Given the description of an element on the screen output the (x, y) to click on. 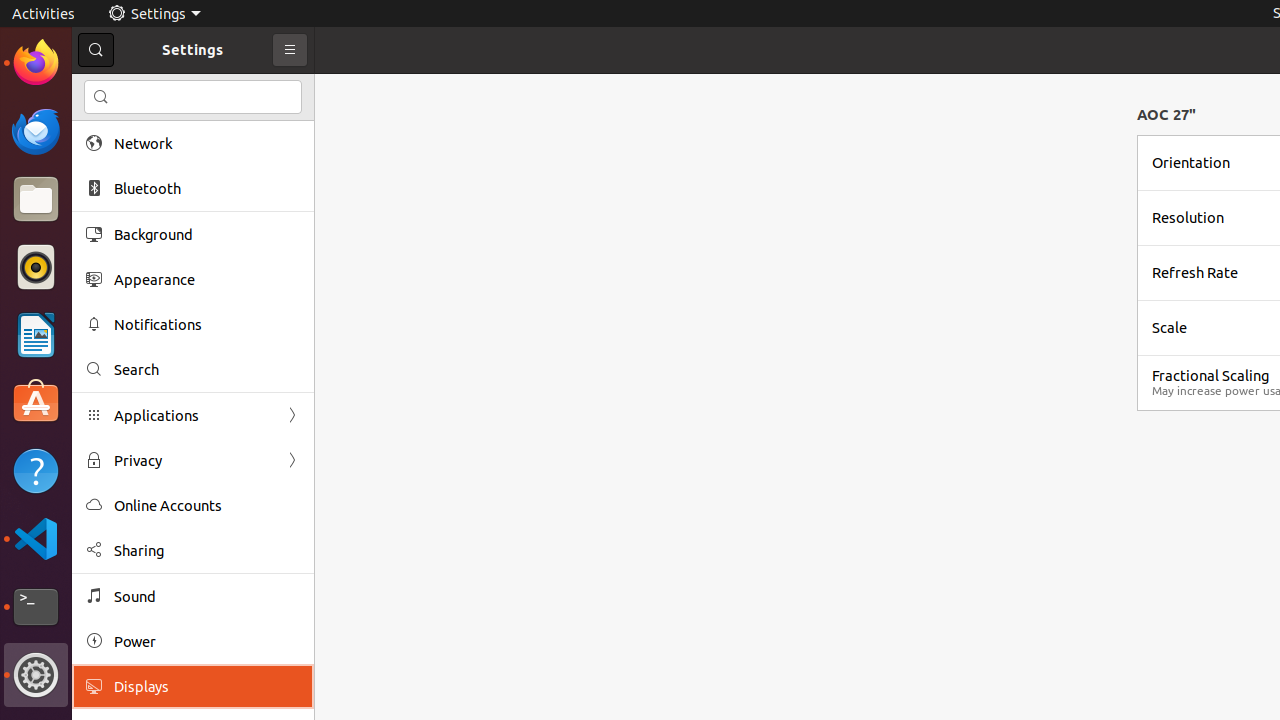
Power Element type: label (207, 641)
Terminal Element type: push-button (36, 607)
Notifications Element type: label (207, 324)
IsaHelpMain.desktop Element type: label (133, 300)
li.txt Element type: label (259, 89)
